Given the description of an element on the screen output the (x, y) to click on. 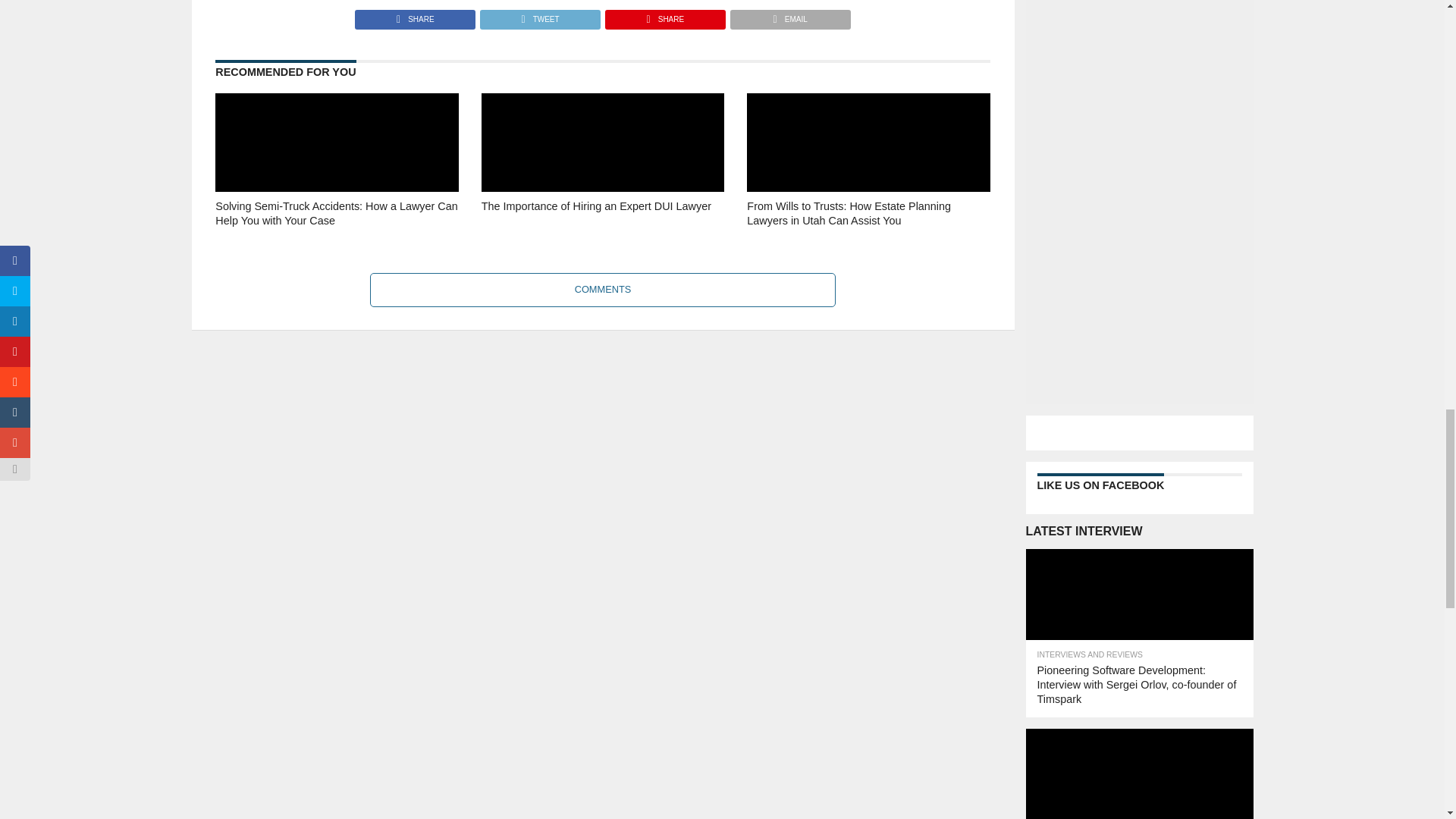
Pin This Post (664, 15)
The Importance of Hiring an Expert DUI Lawyer (602, 234)
Tweet This Post (539, 15)
Share on Facebook (415, 15)
